Given the description of an element on the screen output the (x, y) to click on. 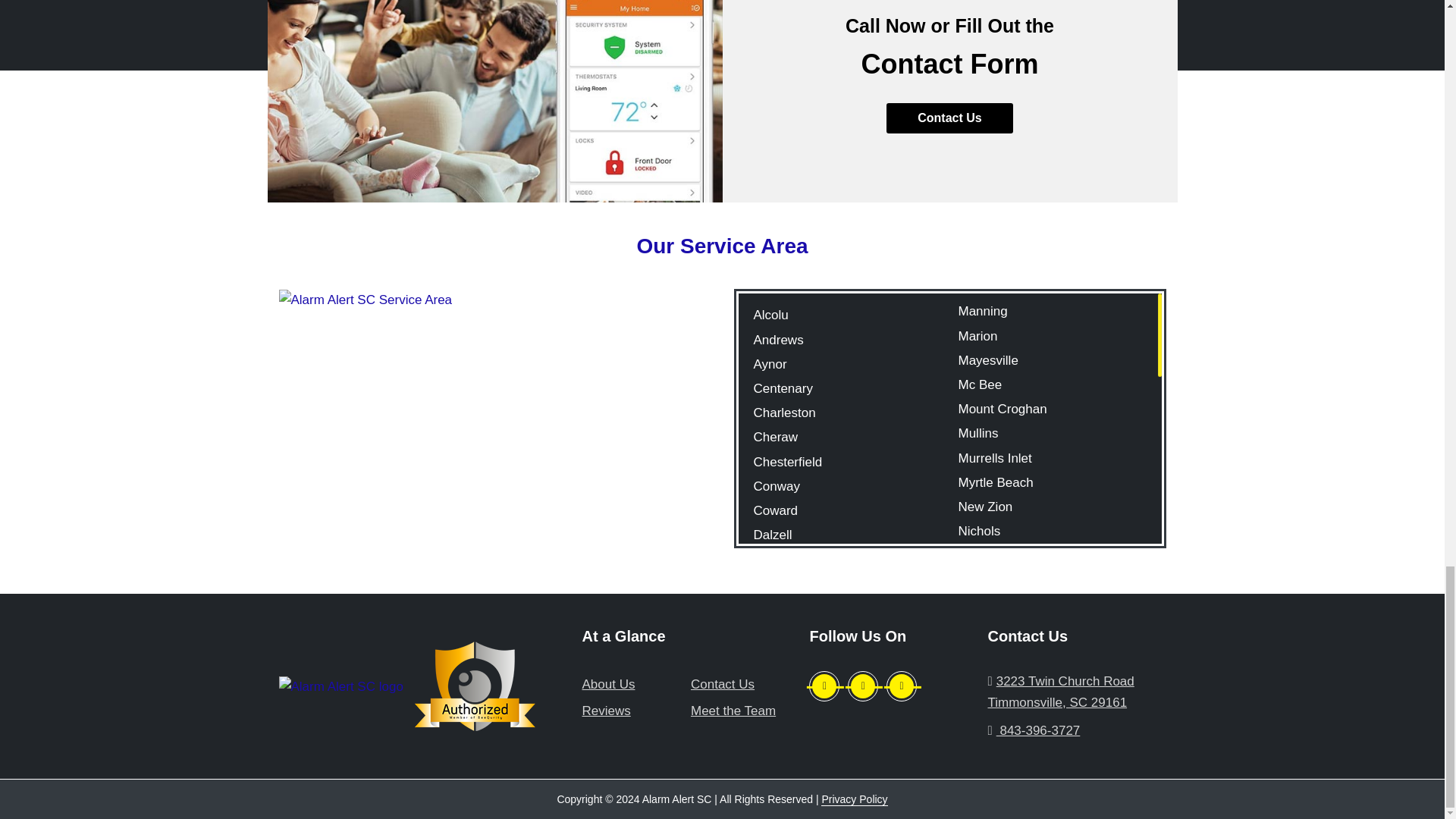
Our Linkedin Page (901, 685)
Our Facebook Page (824, 685)
Our Google Page (862, 685)
See all Service Area List (365, 298)
Call Us Now (1076, 730)
View us on Google Map (1060, 691)
